Given the description of an element on the screen output the (x, y) to click on. 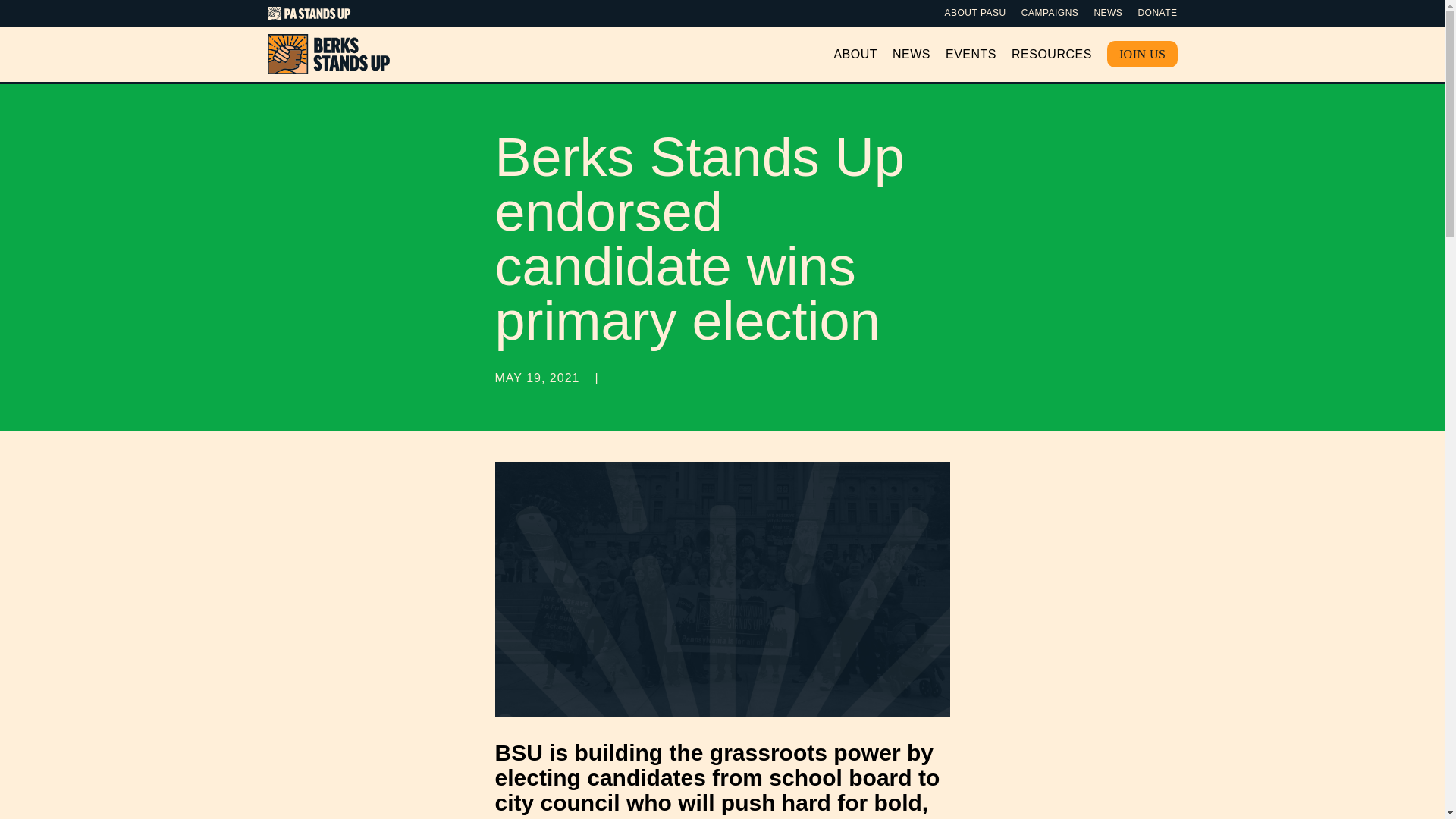
JOIN US (1141, 53)
CAMPAIGNS (1050, 12)
RESOURCES (1051, 53)
ABOUT PASU (975, 12)
NEWS (911, 53)
NEWS (1107, 12)
DONATE (1156, 12)
ABOUT (854, 53)
EVENTS (969, 53)
